Given the description of an element on the screen output the (x, y) to click on. 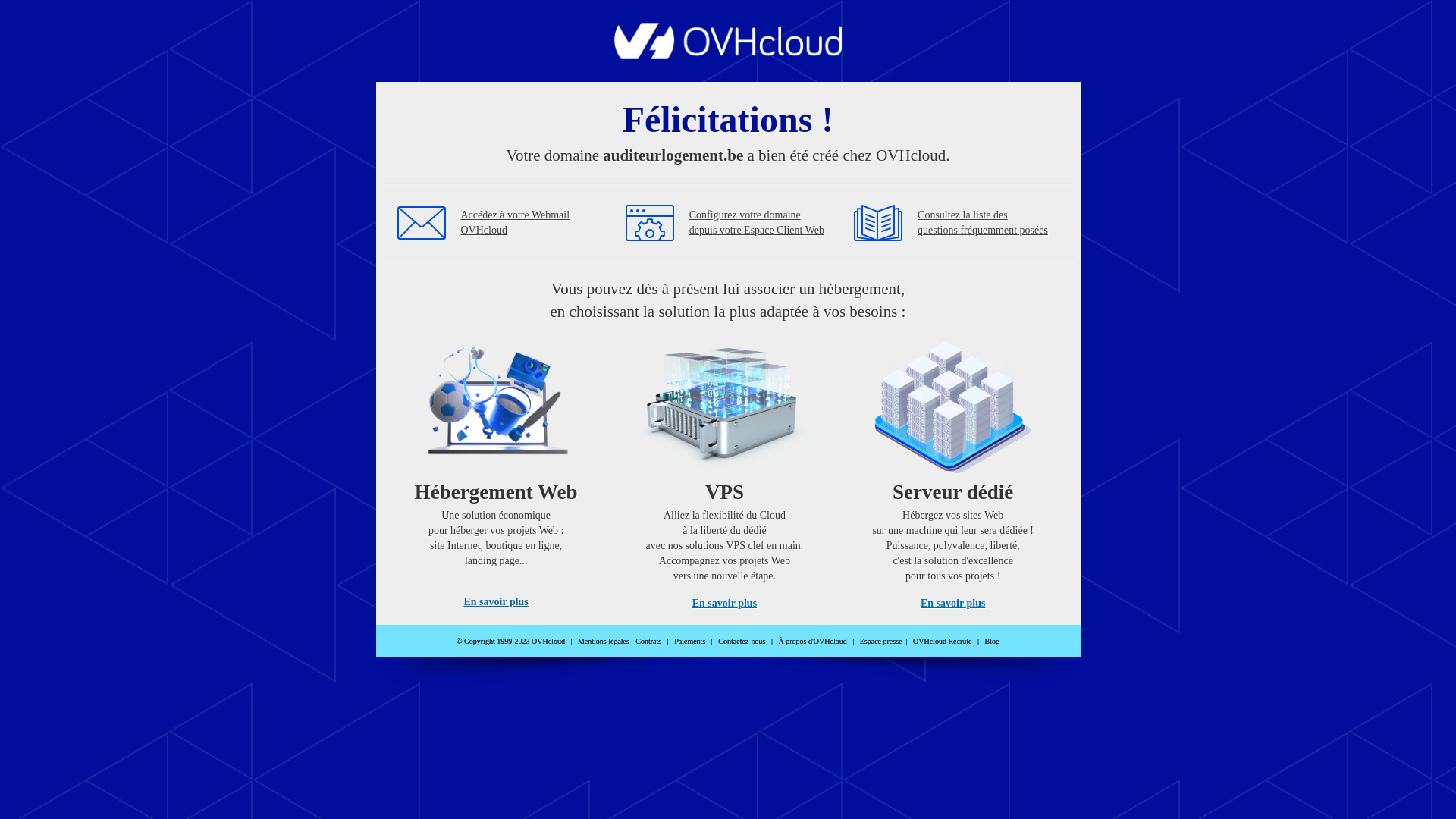
Contactez-nous Element type: text (741, 641)
OVHcloud Recrute Element type: text (942, 641)
OVHcloud Element type: hover (727, 54)
Paiements Element type: text (689, 641)
VPS Element type: hover (724, 469)
Blog Element type: text (992, 641)
Espace presse Element type: text (880, 641)
En savoir plus Element type: text (495, 601)
En savoir plus Element type: text (952, 602)
Configurez votre domaine
depuis votre Espace Client Web Element type: text (756, 222)
En savoir plus Element type: text (724, 602)
